Given the description of an element on the screen output the (x, y) to click on. 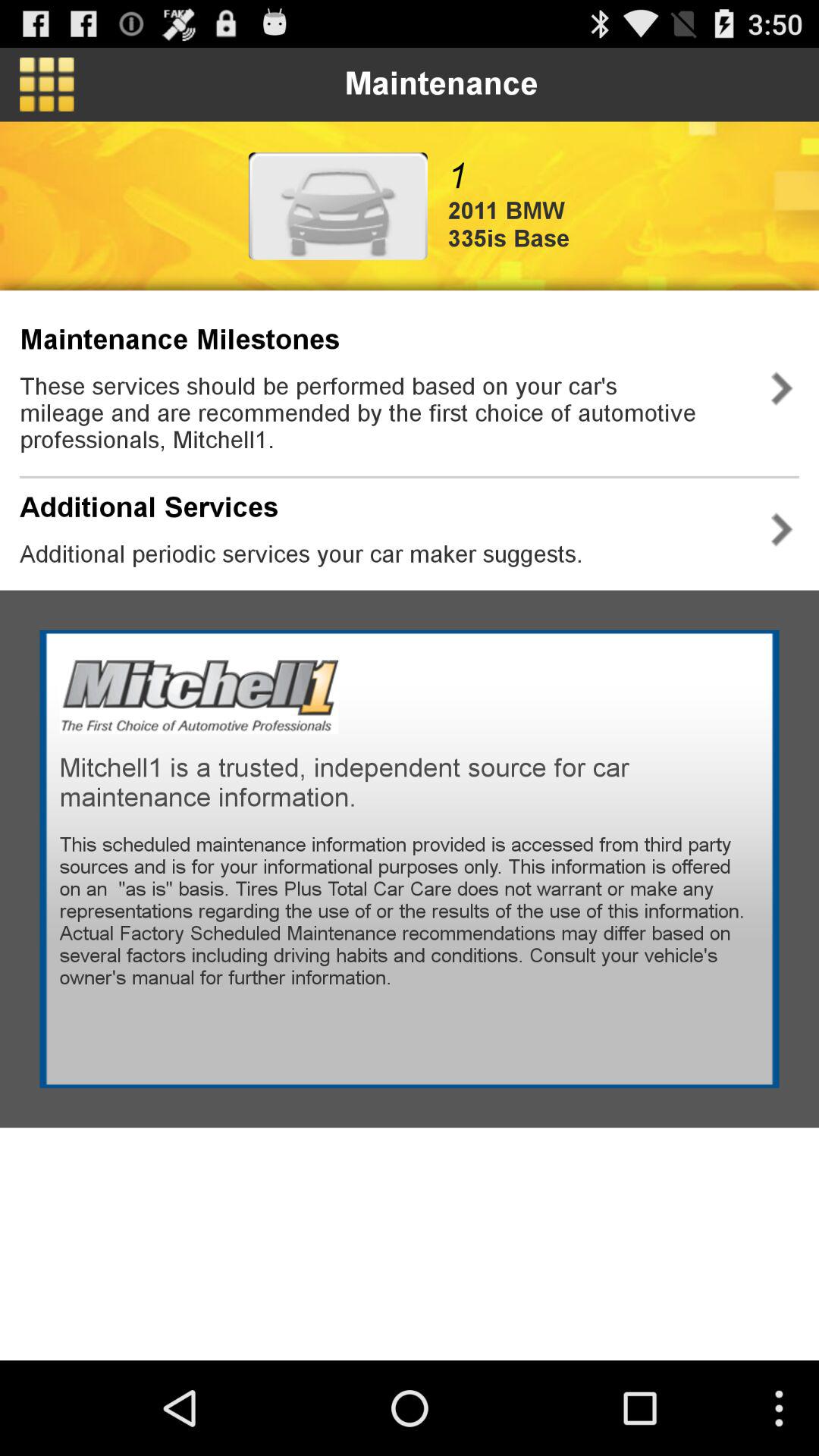
advertisement (337, 205)
